Given the description of an element on the screen output the (x, y) to click on. 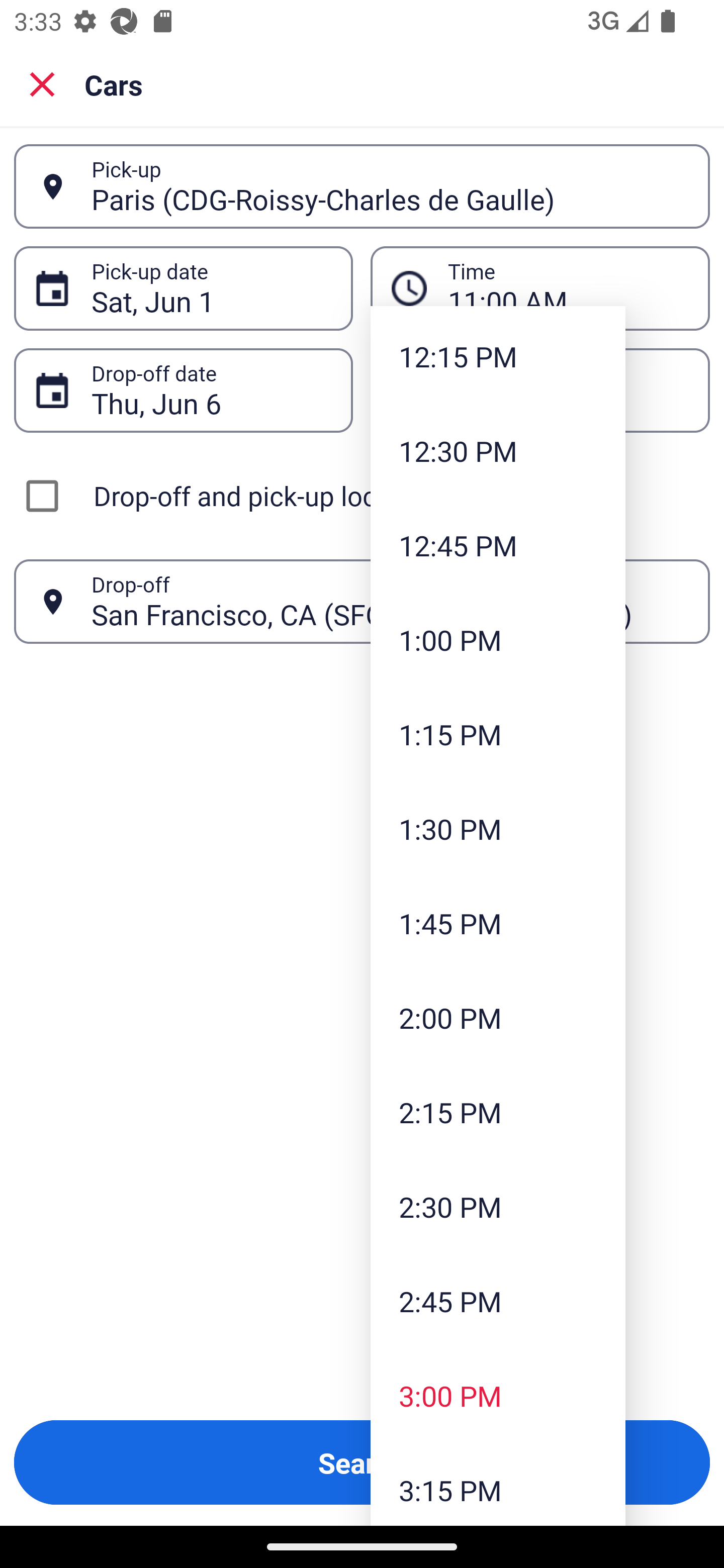
12:15 PM (497, 355)
12:30 PM (497, 450)
12:45 PM (497, 545)
1:00 PM (497, 639)
1:15 PM (497, 733)
1:30 PM (497, 828)
1:45 PM (497, 923)
2:00 PM (497, 1017)
2:15 PM (497, 1111)
2:30 PM (497, 1206)
2:45 PM (497, 1301)
3:00 PM (497, 1395)
3:15 PM (497, 1483)
